Given the description of an element on the screen output the (x, y) to click on. 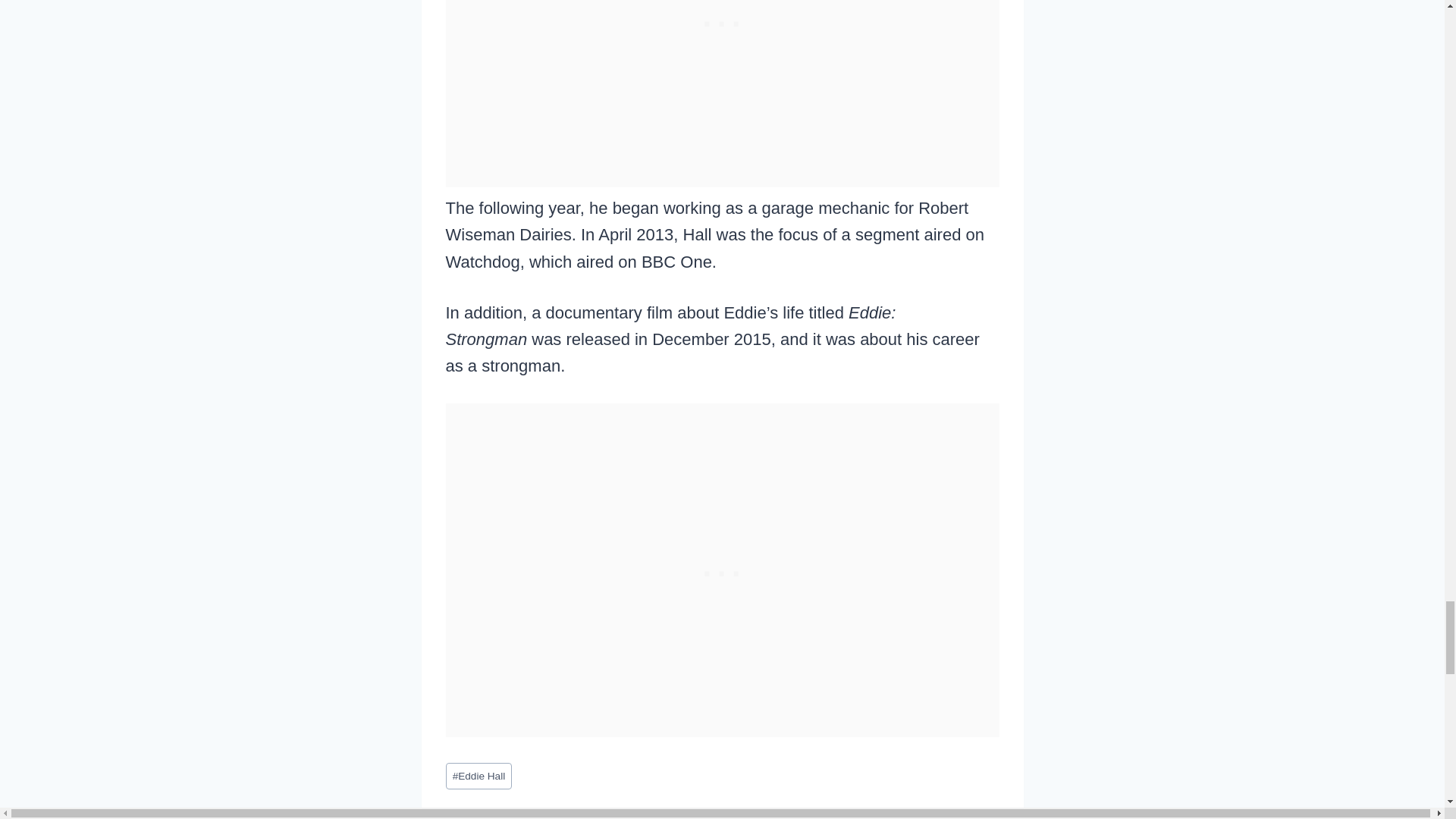
Eddie Hall (478, 775)
